Given the description of an element on the screen output the (x, y) to click on. 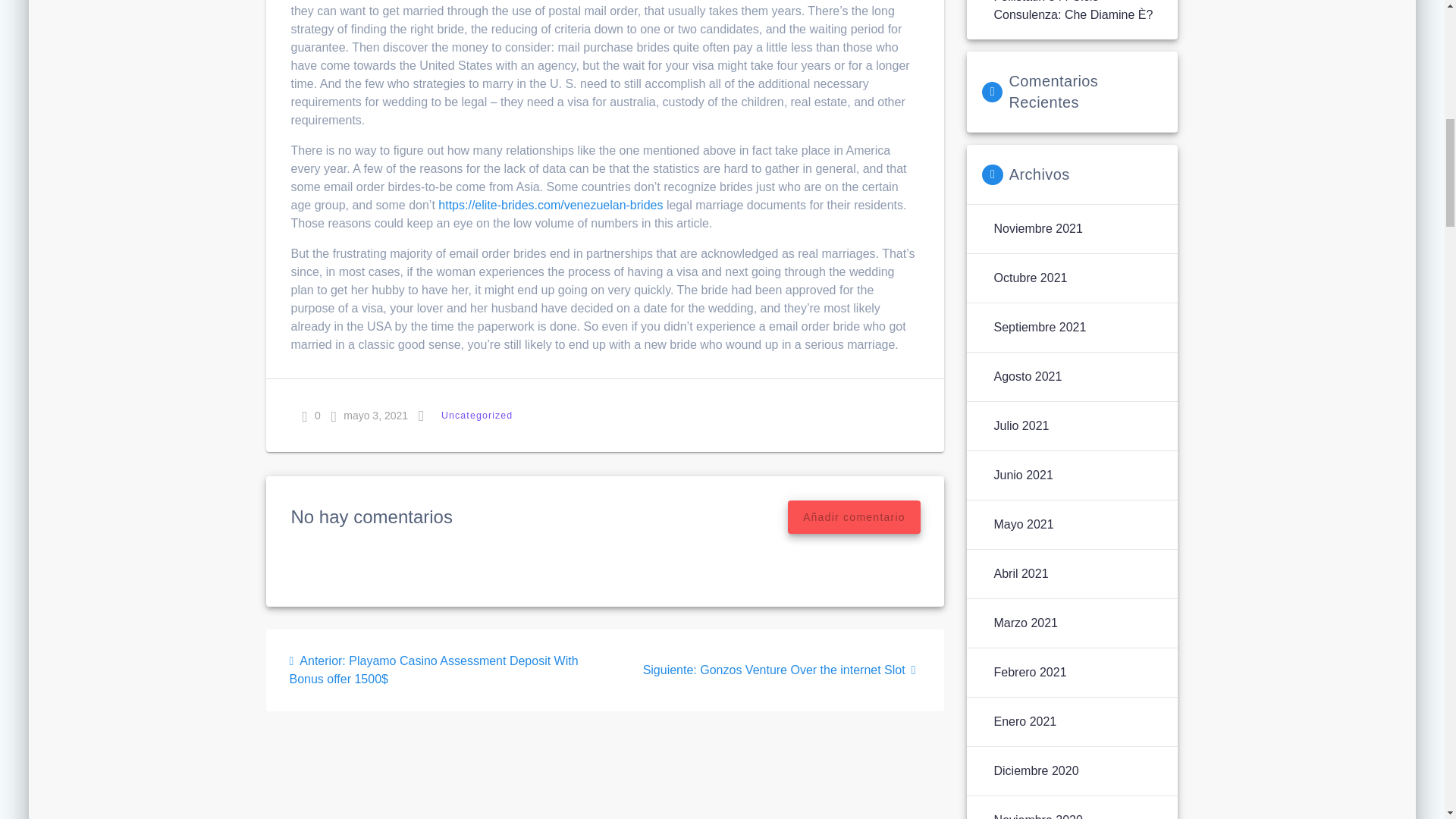
Octubre 2021 (1029, 278)
Agosto 2021 (1026, 376)
Enero 2021 (1024, 721)
Julio 2021 (1020, 425)
Noviembre 2021 (1036, 229)
0 (310, 415)
Noviembre 2020 (1036, 815)
mayo 3, 2021 (369, 415)
Abril 2021 (1020, 574)
